Given the description of an element on the screen output the (x, y) to click on. 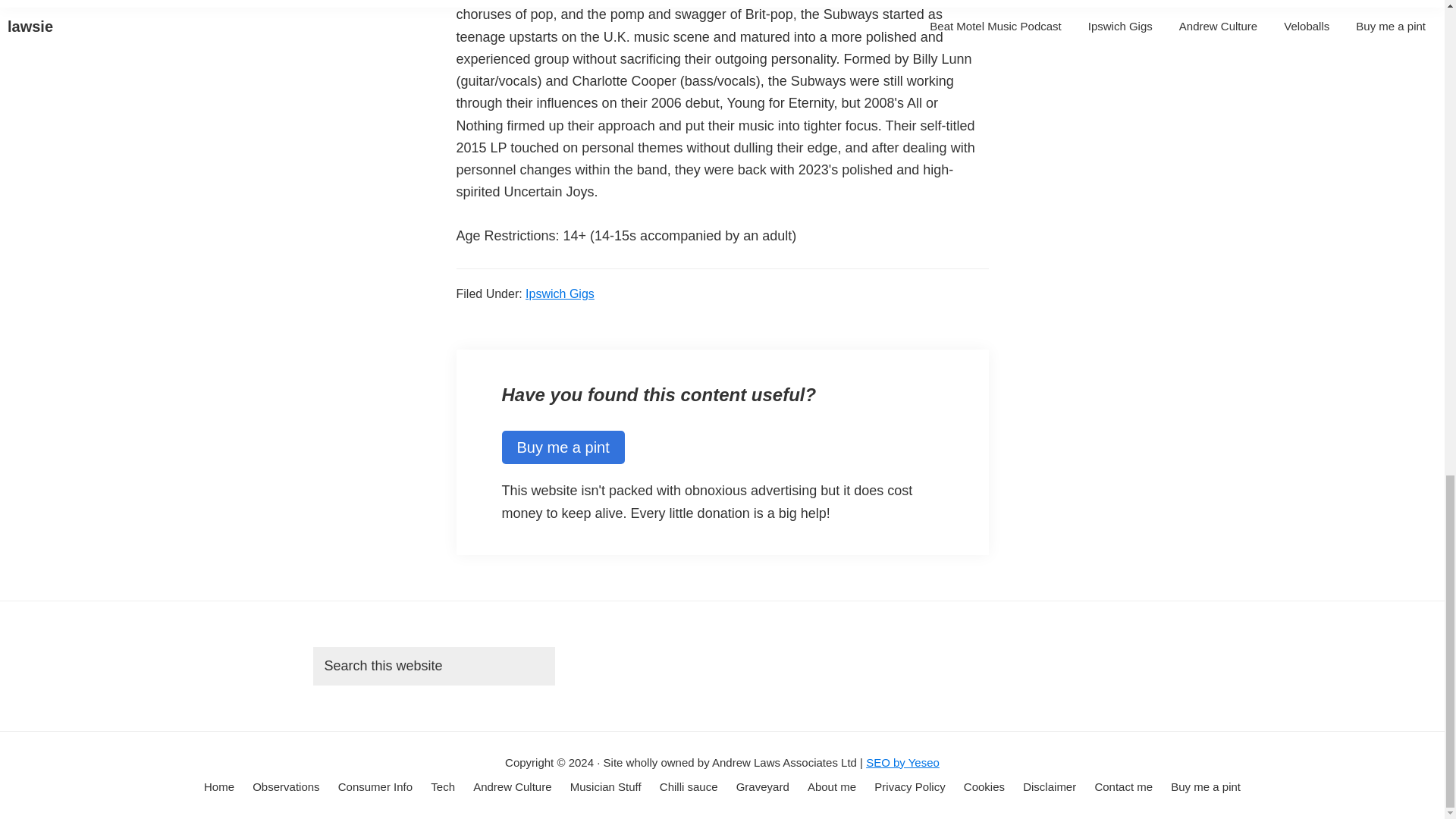
About me (832, 787)
Disclaimer (1049, 787)
Observations (284, 787)
Privacy Policy (909, 787)
Andrew Culture (512, 787)
Chilli sauce (688, 787)
Tech (442, 787)
Musician Stuff (606, 787)
